Given the description of an element on the screen output the (x, y) to click on. 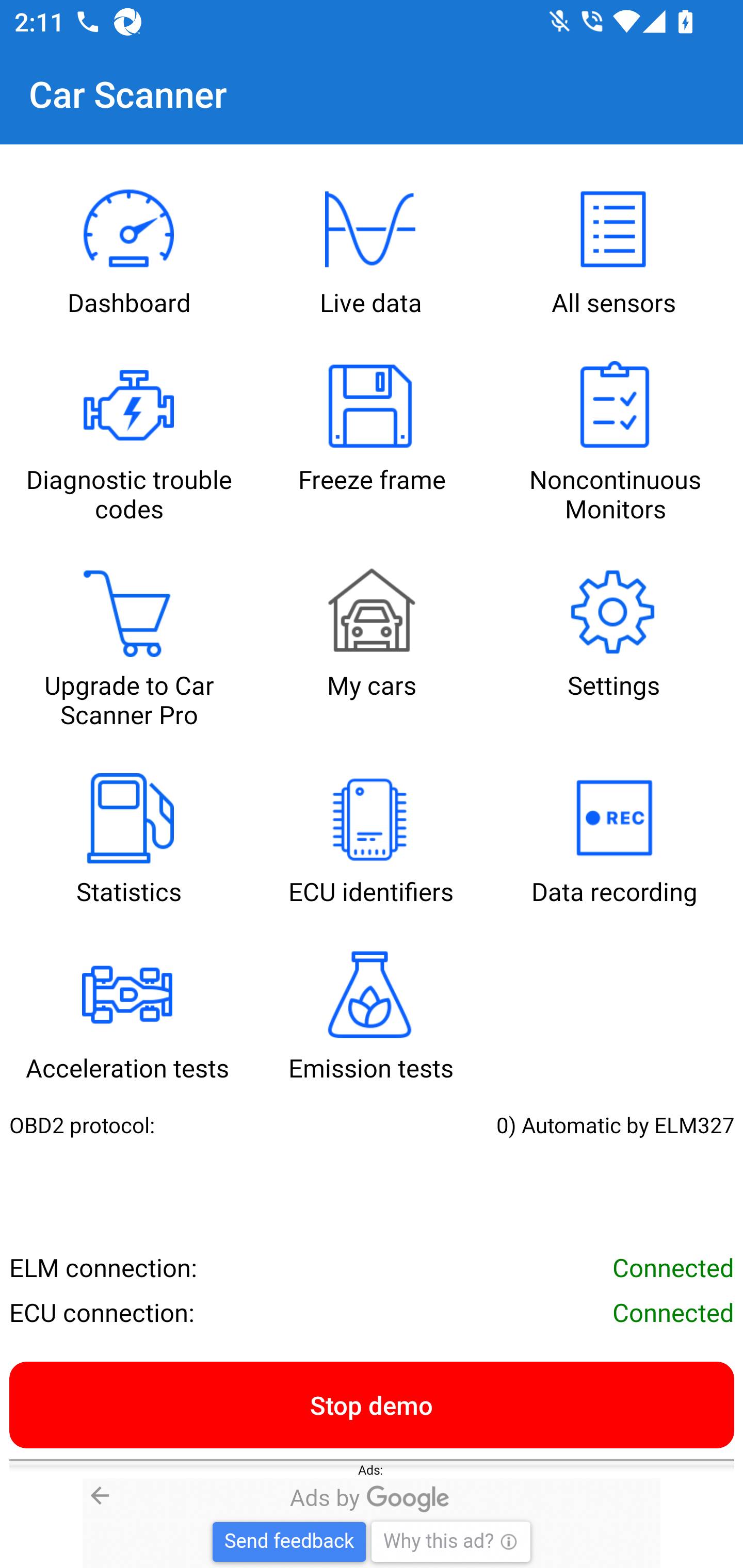
Stop demo (371, 1404)
